Given the description of an element on the screen output the (x, y) to click on. 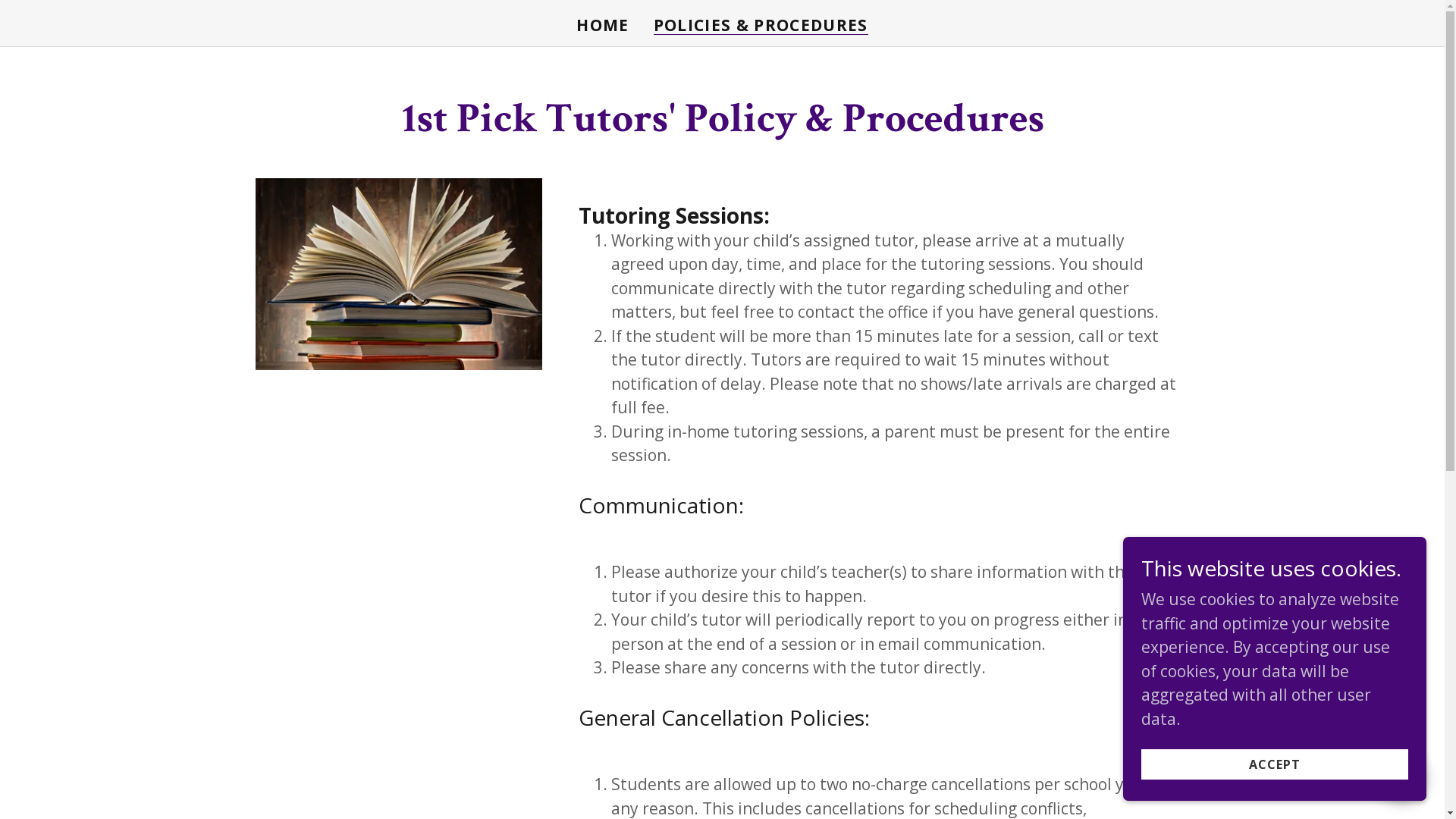
ACCEPT Element type: text (1274, 764)
POLICIES & PROCEDURES Element type: text (760, 24)
HOME Element type: text (602, 24)
